Given the description of an element on the screen output the (x, y) to click on. 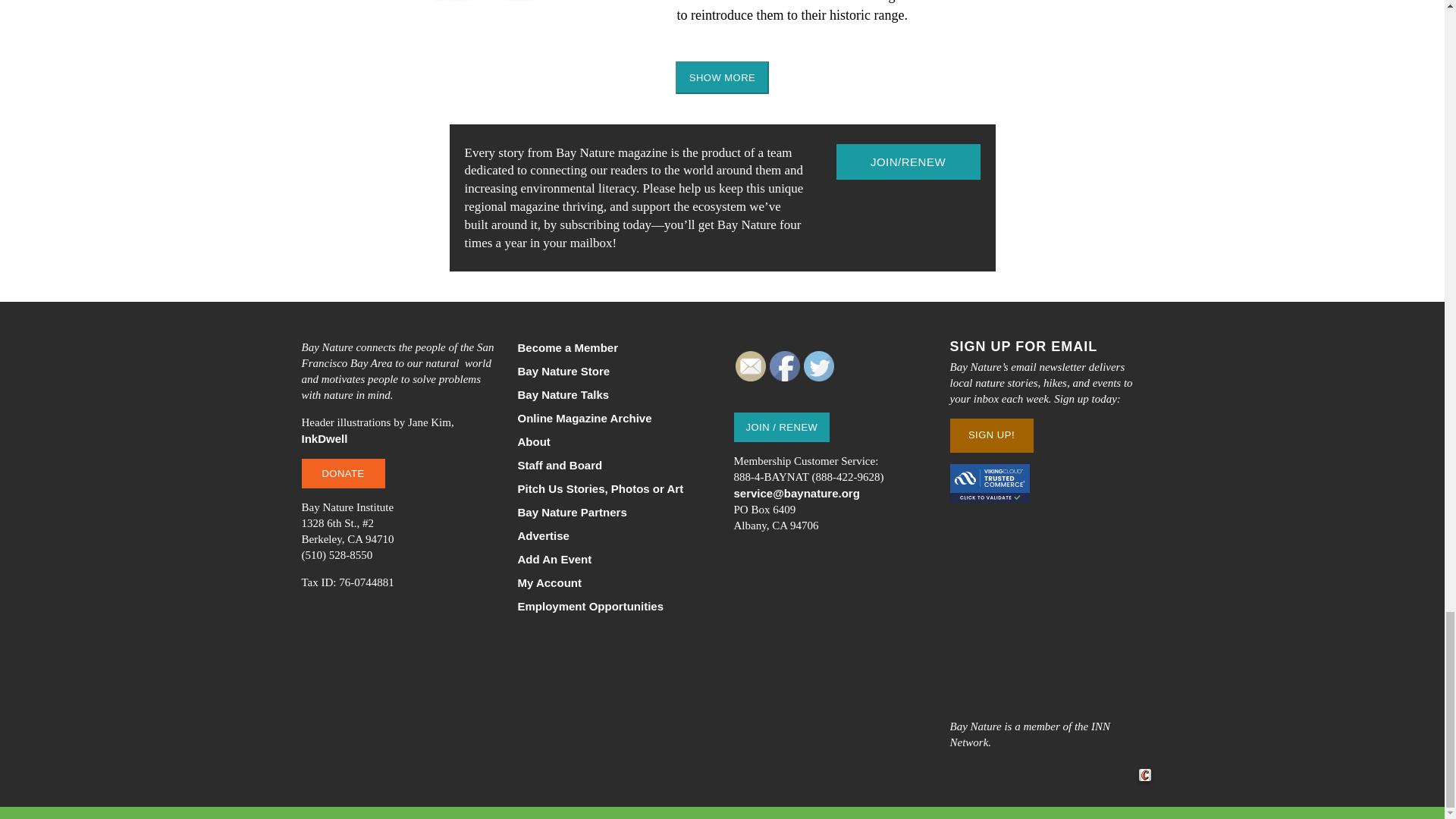
Subscribe (907, 161)
Follow by Email (750, 366)
Facebook (784, 366)
